Given the description of an element on the screen output the (x, y) to click on. 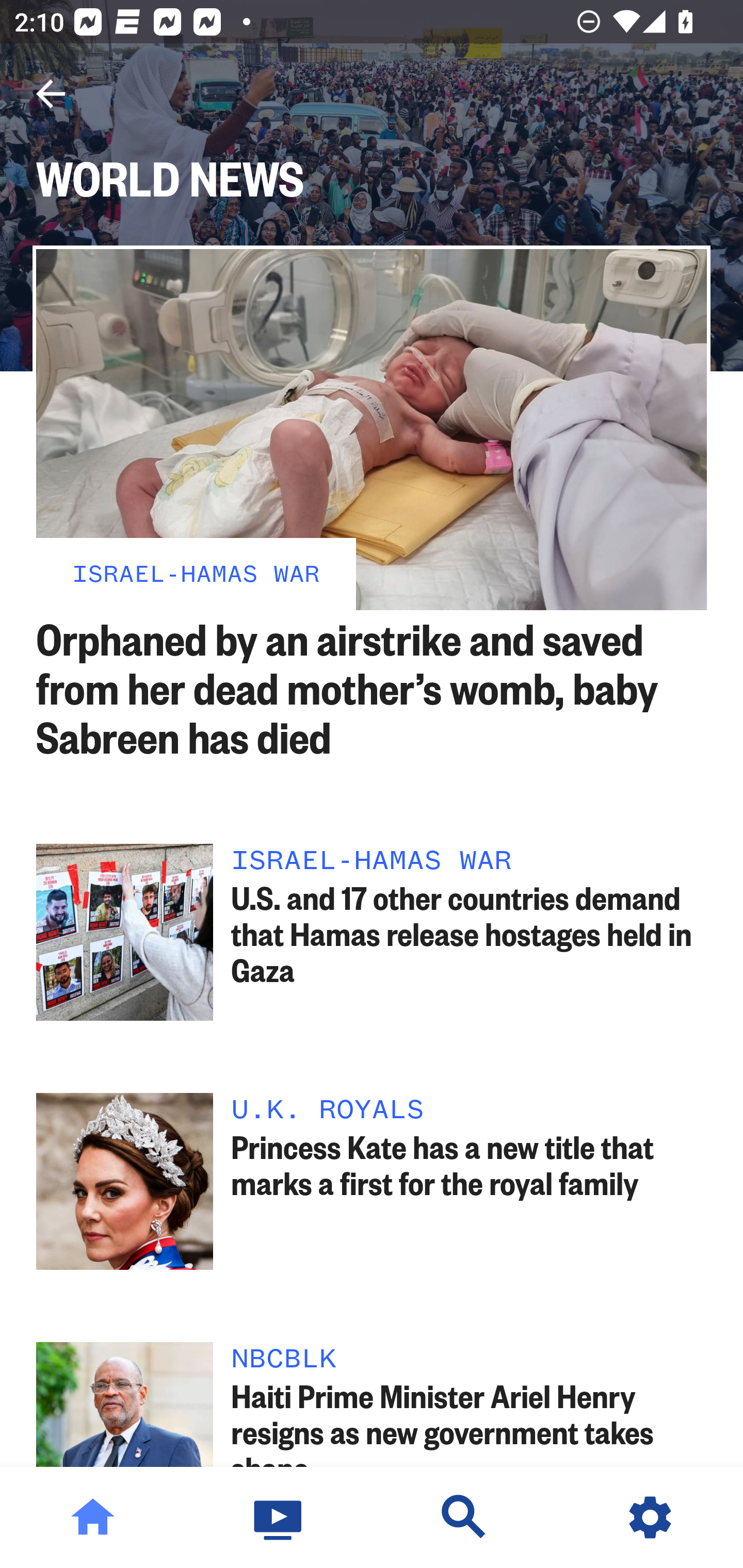
Navigate up (50, 93)
Watch (278, 1517)
Discover (464, 1517)
Settings (650, 1517)
